Given the description of an element on the screen output the (x, y) to click on. 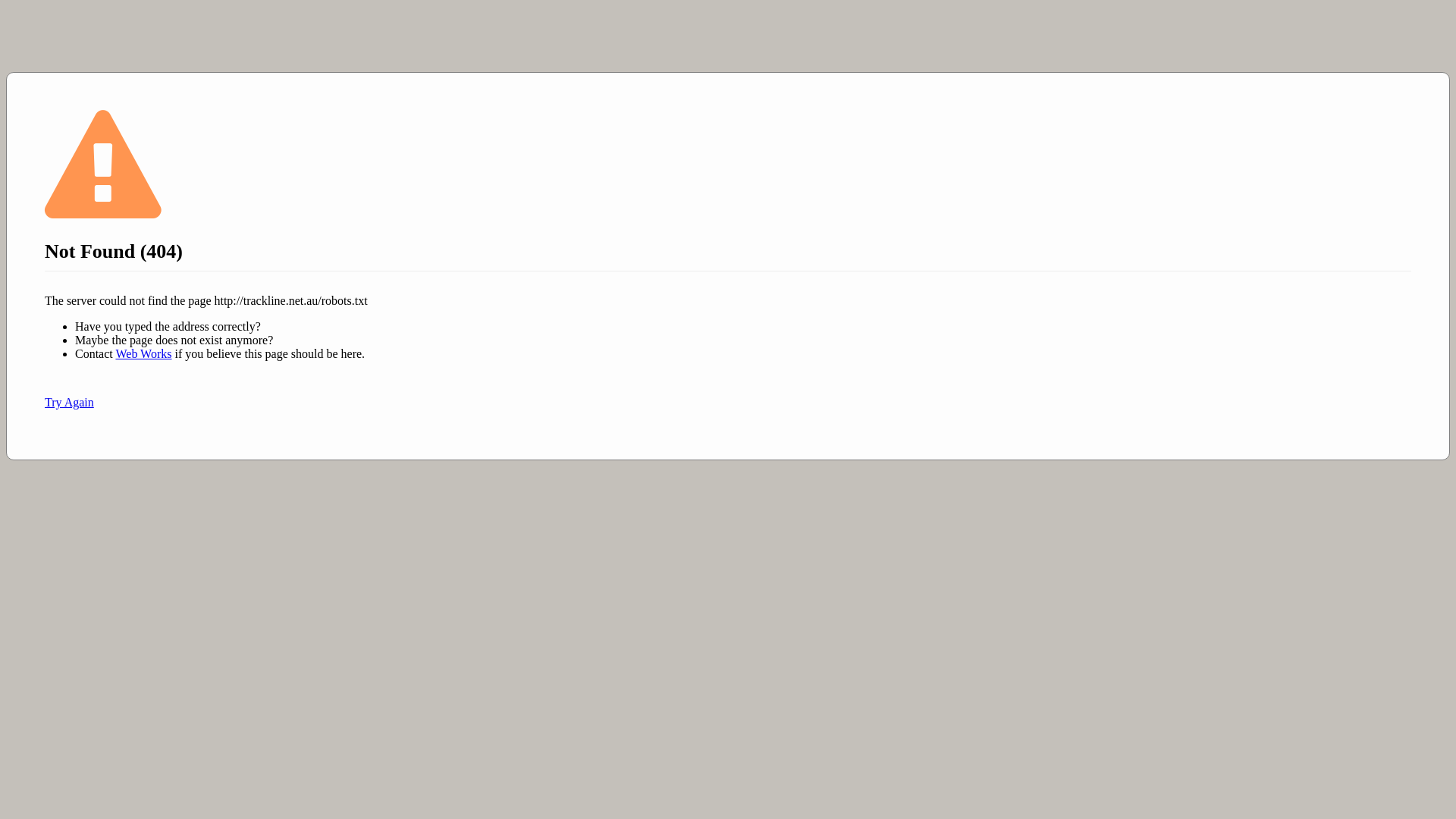
Web Works Element type: text (143, 353)
Try Again Element type: text (69, 401)
